Given the description of an element on the screen output the (x, y) to click on. 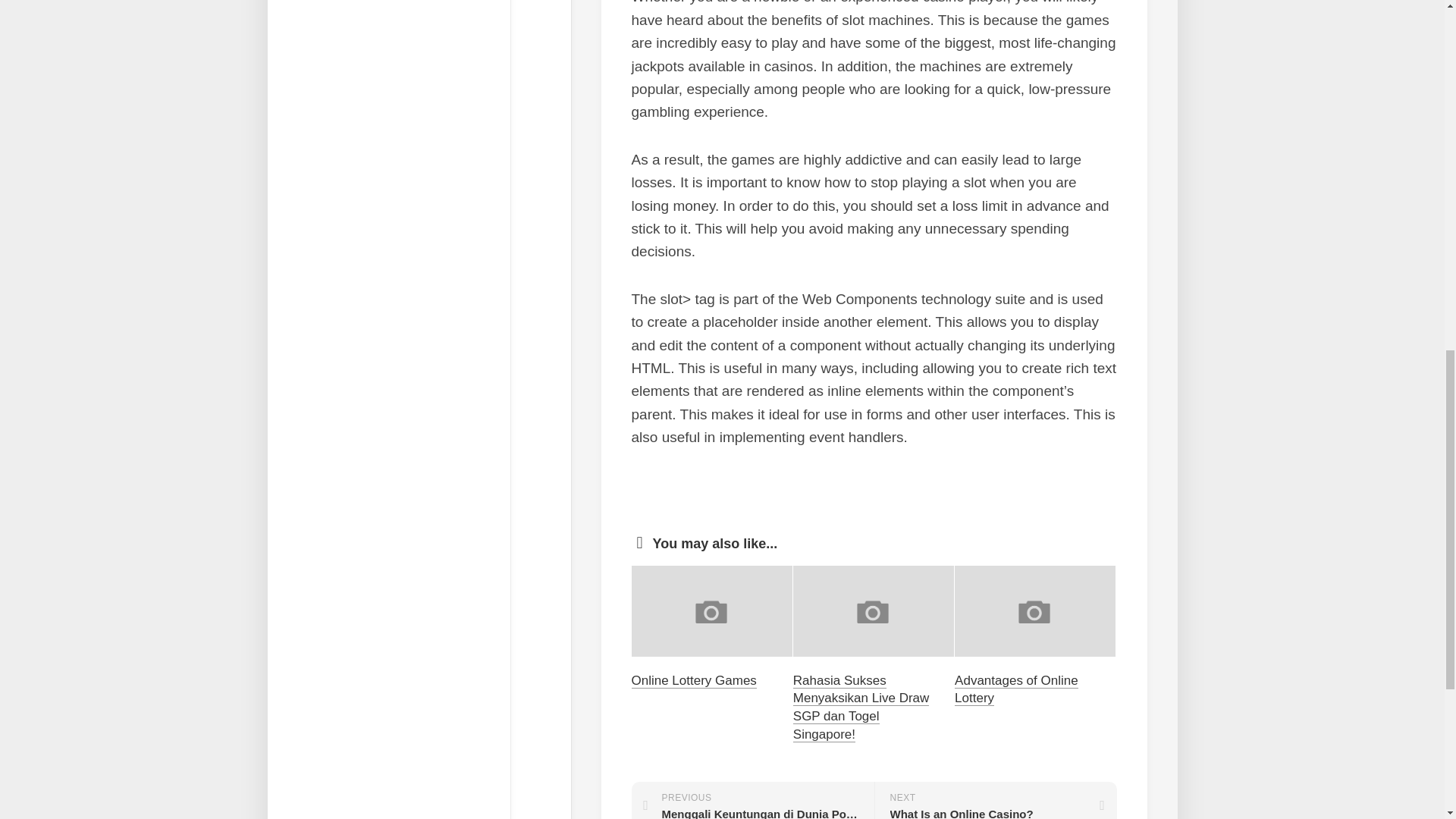
Online Lottery Games (692, 680)
Advantages of Online Lottery (1016, 689)
